Given the description of an element on the screen output the (x, y) to click on. 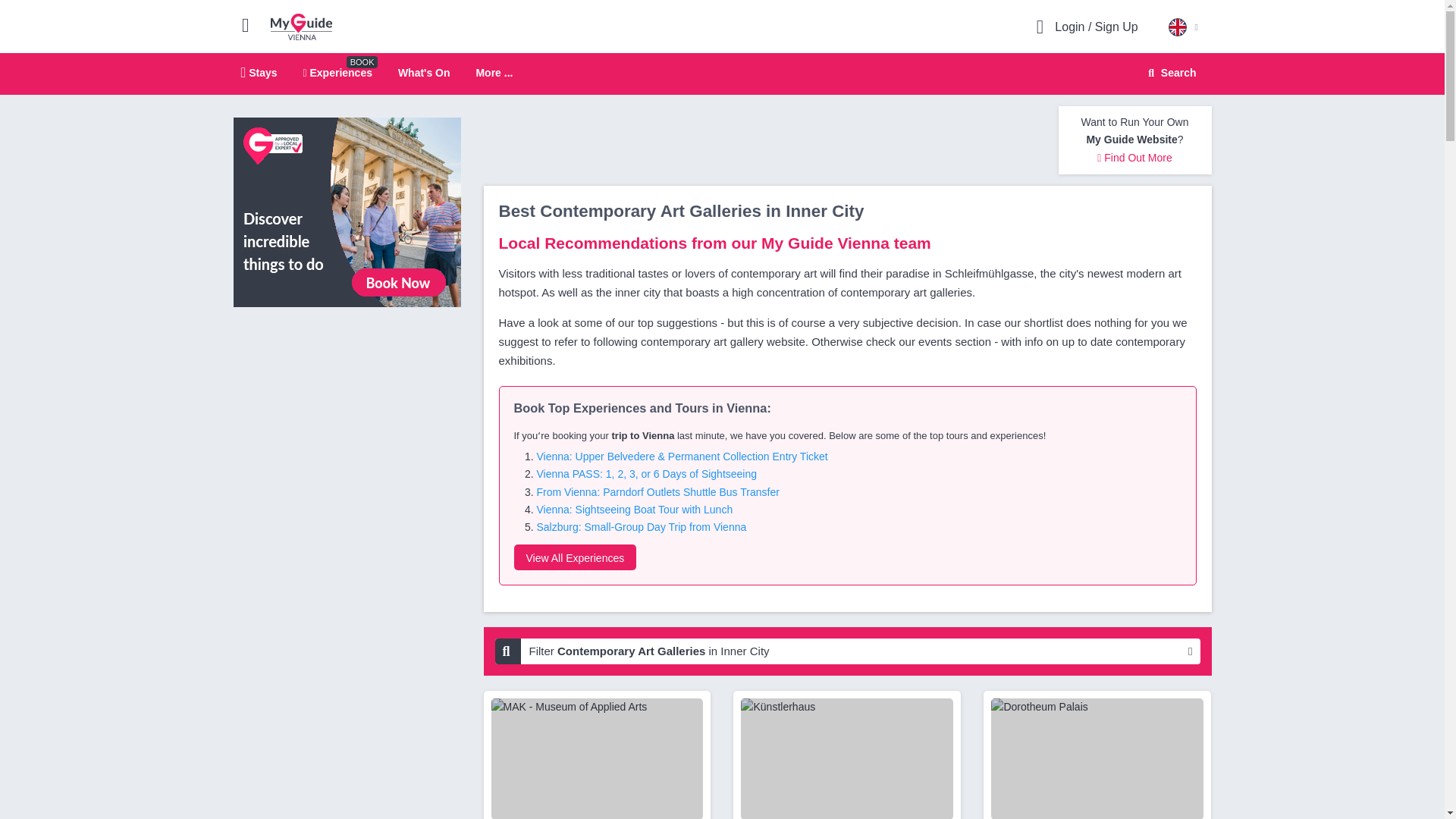
View All Experiences (346, 211)
Experiences (337, 72)
Stays (259, 72)
Search (721, 74)
Search Website (1169, 72)
View All Experiences (1170, 73)
What's On (575, 557)
More ... (423, 72)
My Guide Vienna (494, 72)
